Given the description of an element on the screen output the (x, y) to click on. 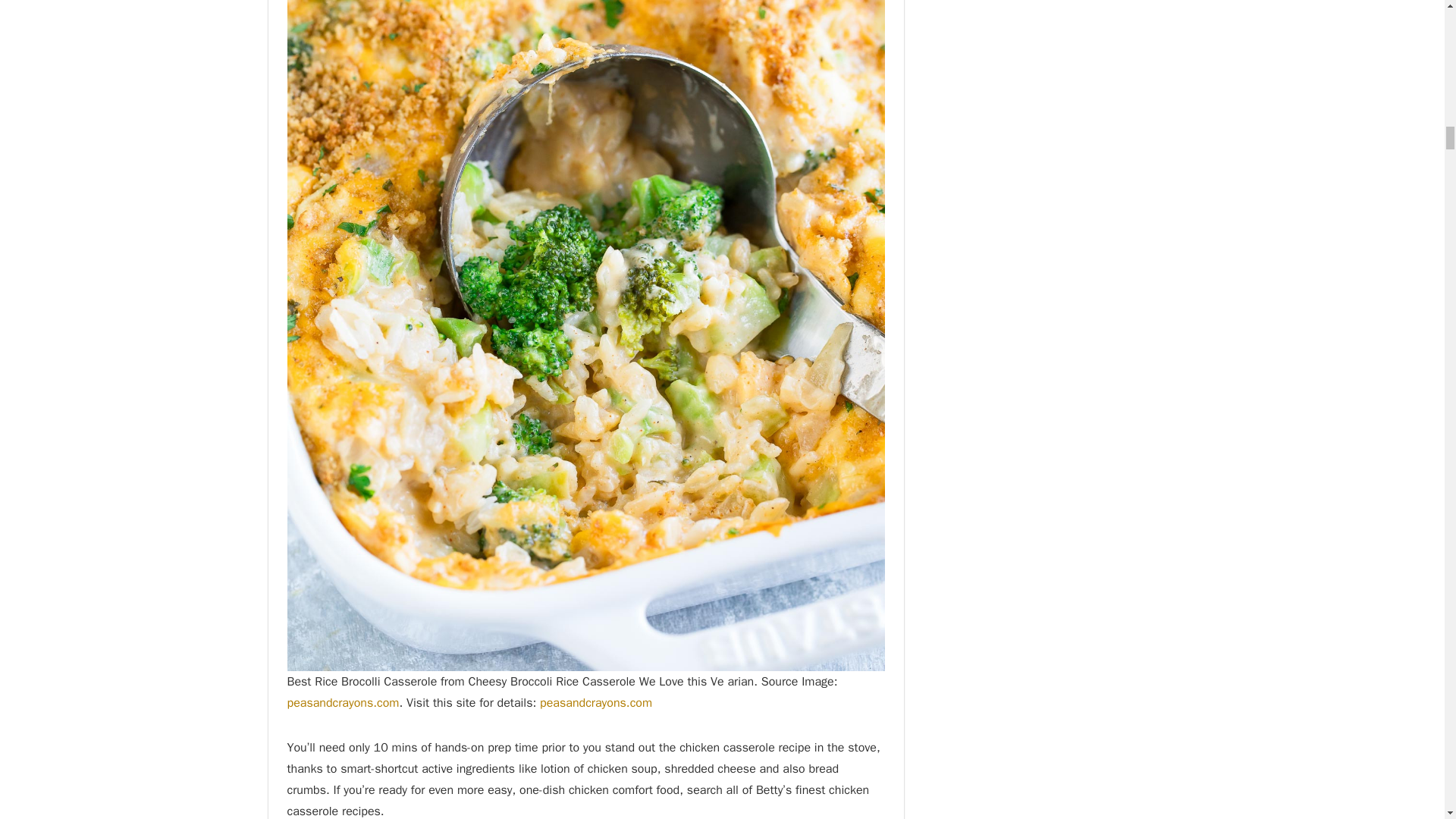
peasandcrayons.com (596, 702)
peasandcrayons.com (342, 702)
